Given the description of an element on the screen output the (x, y) to click on. 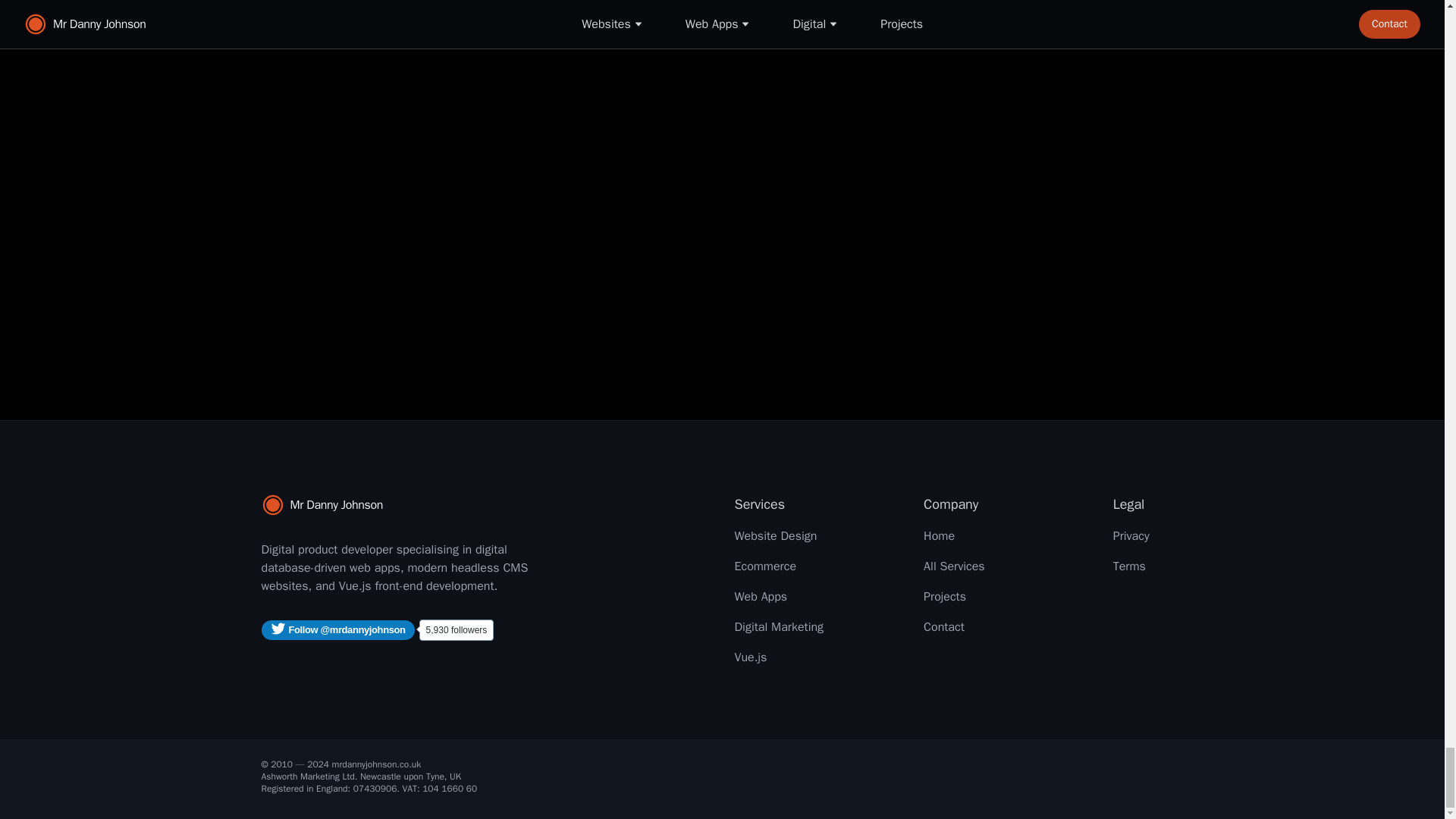
Ecommerce (764, 566)
All Services (954, 566)
Privacy (1131, 535)
Mr Danny Johnson (405, 504)
Digital Marketing (778, 626)
Home (939, 535)
5,930 followers (456, 629)
Terms (1129, 566)
Projects (944, 596)
Web Apps (760, 596)
Contact (943, 626)
Website Design (774, 535)
Vue.js (750, 657)
